Given the description of an element on the screen output the (x, y) to click on. 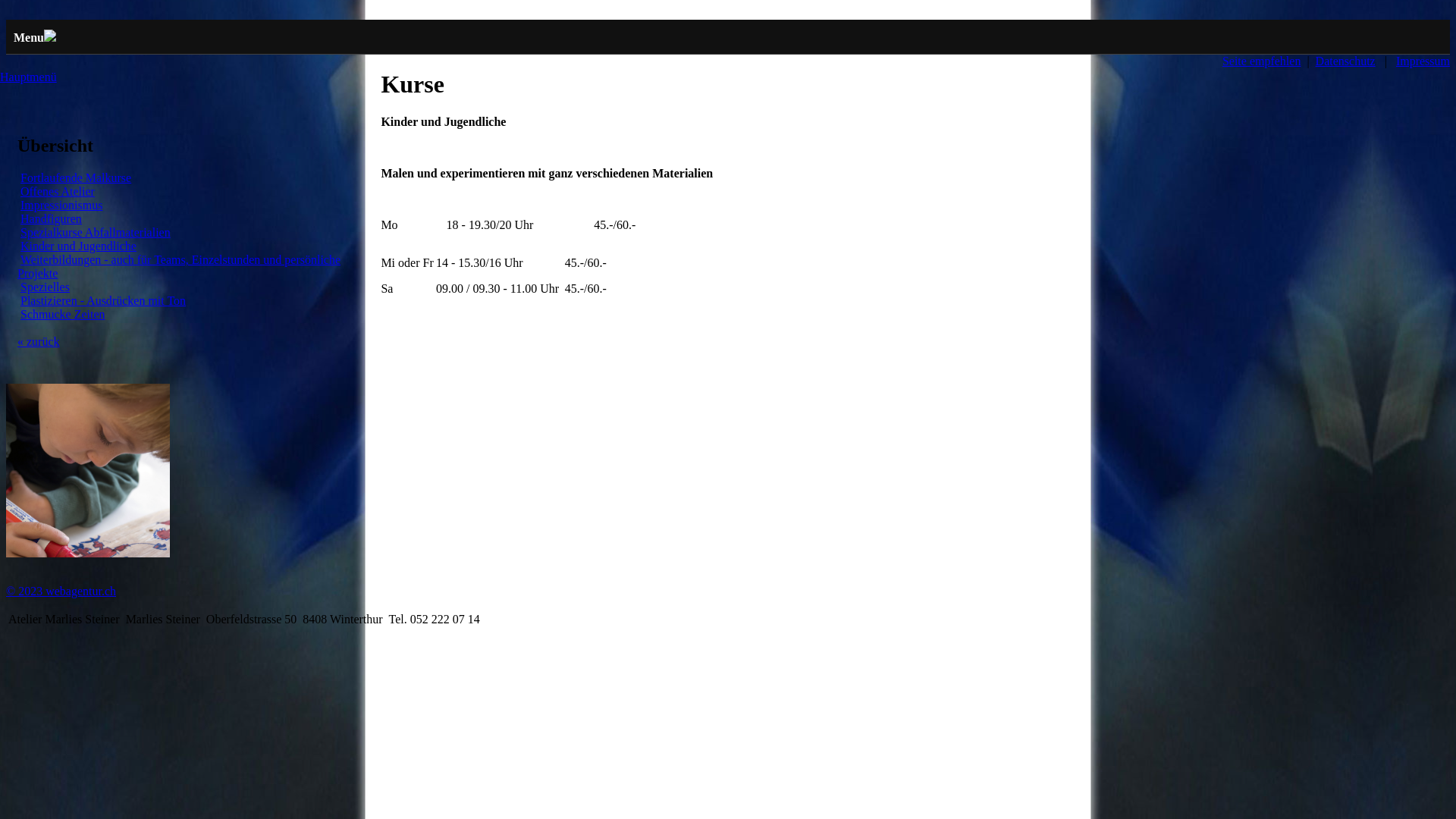
Handfiguren Element type: text (50, 218)
Seite empfehlen Element type: text (1261, 60)
Impressionismus Element type: text (61, 204)
Fortlaufende Malkurse Element type: text (75, 177)
Impressum Element type: text (1422, 60)
Datenschutz Element type: text (1345, 60)
Schmucke Zeiten Element type: text (62, 313)
Offenes Atelier Element type: text (57, 191)
Spezialkurse Abfallmaterialien Element type: text (95, 231)
Kinder und Jugendliche Element type: text (78, 245)
Spezielles Element type: text (44, 286)
